Given the description of an element on the screen output the (x, y) to click on. 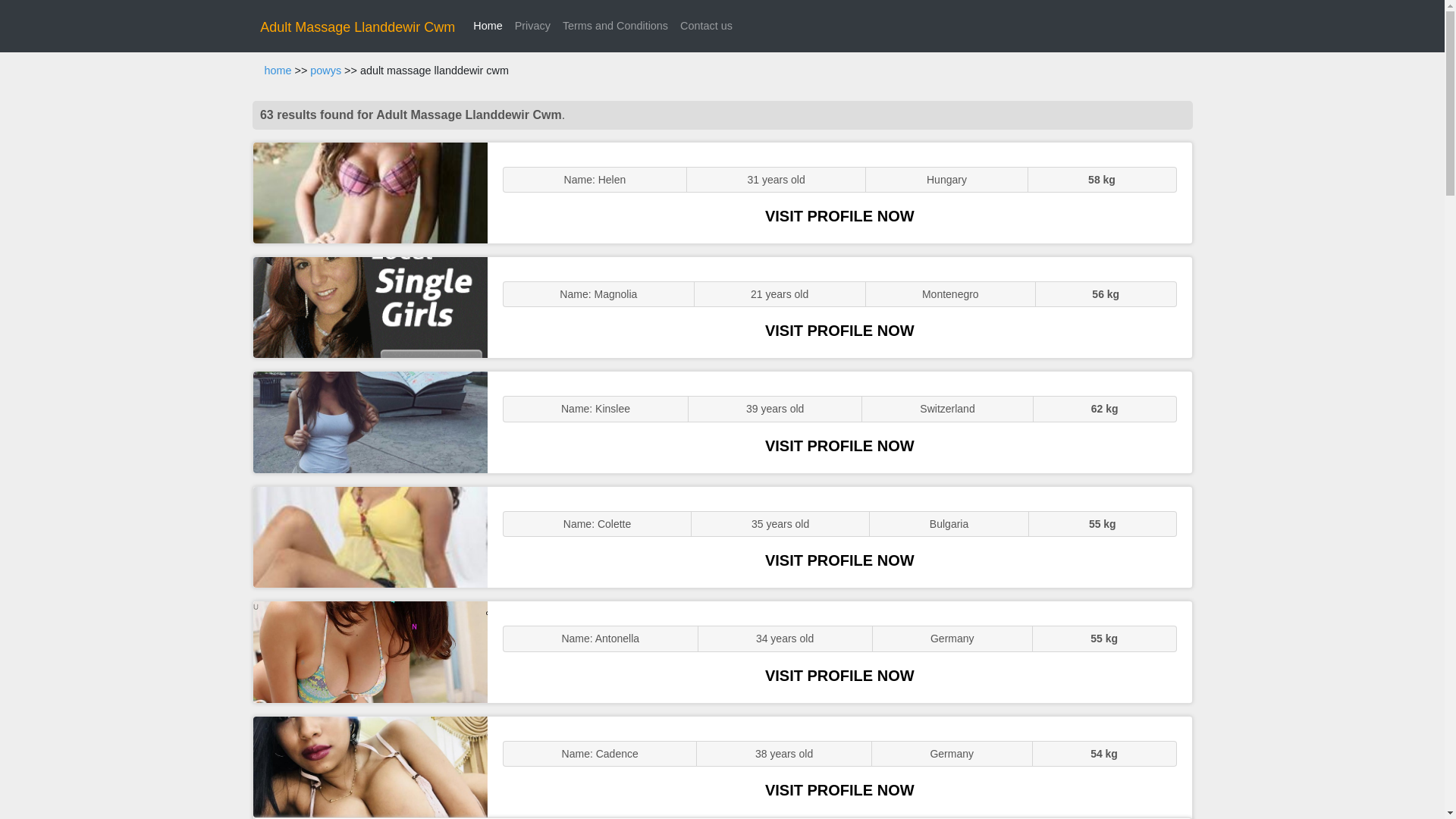
powys (325, 70)
Adult Massage Llanddewir Cwm (357, 27)
VISIT PROFILE NOW (839, 445)
VISIT PROFILE NOW (839, 675)
Privacy (532, 25)
Sexy (370, 421)
VISIT PROFILE NOW (839, 560)
Sluts (370, 651)
 ENGLISH STUNNER (370, 192)
home (277, 70)
Terms and Conditions (615, 25)
Sluts (370, 537)
Massage (370, 766)
VISIT PROFILE NOW (839, 330)
Contact us (706, 25)
